Given the description of an element on the screen output the (x, y) to click on. 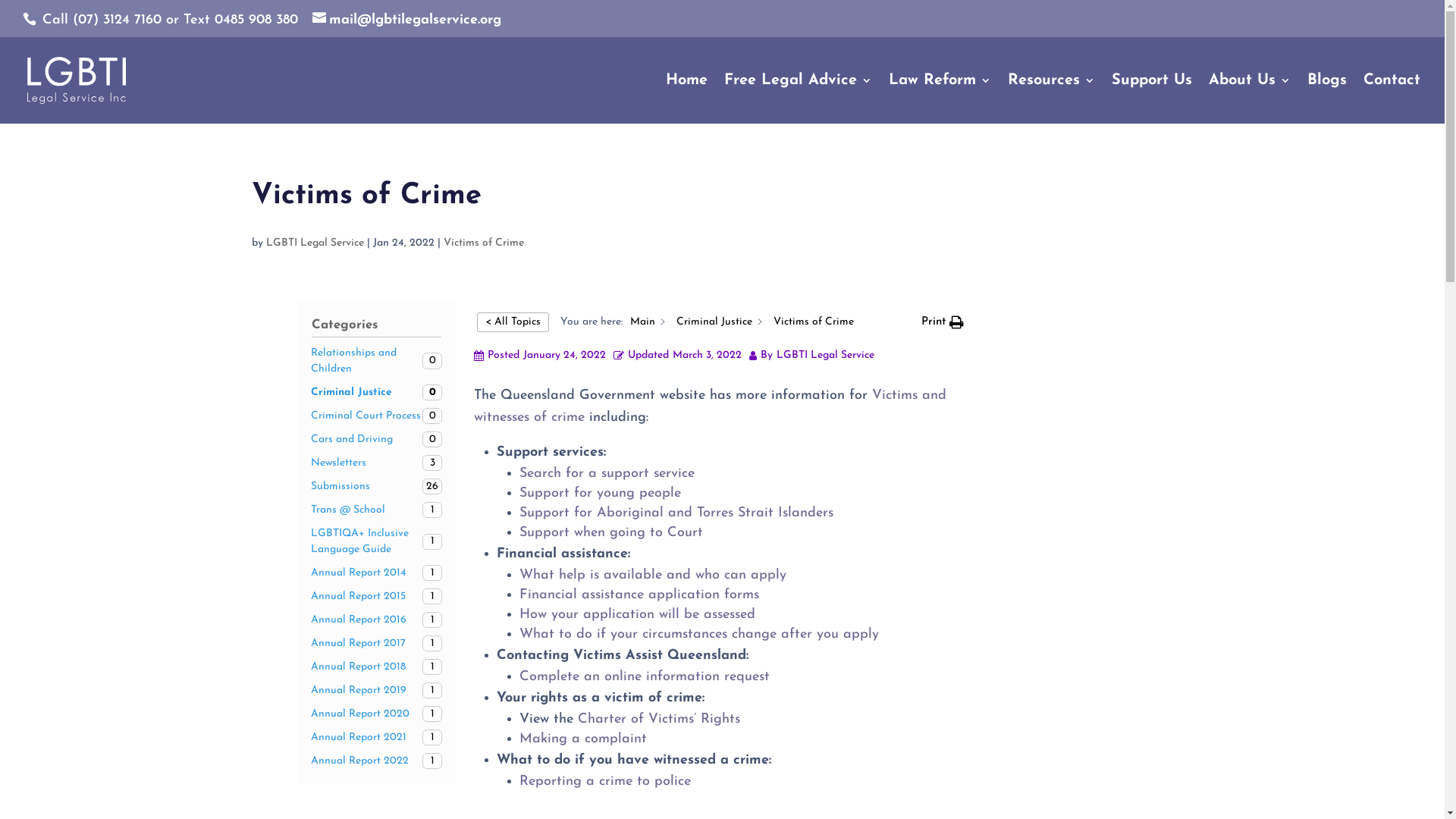
Relationships and Children
0 Element type: text (376, 360)
Annual Report 2022
1 Element type: text (376, 760)
Annual Report 2019
1 Element type: text (376, 690)
Victims of Crime Element type: text (483, 242)
Resources Element type: text (1051, 99)
Cars and Driving
0 Element type: text (376, 439)
mail@lgbtilegalservice.org Element type: text (406, 19)
Annual Report 2017
1 Element type: text (376, 643)
Annual Report 2014
1 Element type: text (376, 572)
Newsletters
3 Element type: text (376, 462)
Criminal Court Process
0 Element type: text (376, 415)
Home Element type: text (686, 99)
LGBTIQA+ Inclusive Language Guide
1 Element type: text (376, 541)
Complete an online information request Element type: text (643, 676)
What help is available and who can apply Element type: text (651, 574)
Trans @ School
1 Element type: text (376, 509)
Making a complaint Element type: text (582, 738)
About Us Element type: text (1249, 99)
Contact Element type: text (1391, 99)
Free Legal Advice Element type: text (798, 99)
How your application will be assessed Element type: text (636, 614)
Criminal Justice
0 Element type: text (376, 392)
Main Element type: text (641, 321)
Support for Aboriginal and Torres Strait Islanders Element type: text (675, 512)
Victims and witnesses of crime Element type: text (709, 406)
Annual Report 2018
1 Element type: text (376, 666)
Reporting a crime to police  Element type: text (606, 781)
Blogs Element type: text (1326, 99)
< All Topics Element type: text (512, 322)
Support when going to Court Element type: text (610, 532)
Criminal Justice Element type: text (714, 321)
Law Reform Element type: text (939, 99)
Search for a support service Element type: text (605, 473)
Support for young people Element type: text (599, 493)
Annual Report 2021
1 Element type: text (376, 737)
Annual Report 2015
1 Element type: text (376, 596)
LGBTI Legal Service Element type: text (315, 242)
Annual Report 2020
1 Element type: text (376, 713)
Financial assistance application forms Element type: text (638, 594)
Support Us Element type: text (1151, 99)
Submissions
26 Element type: text (376, 486)
Annual Report 2016
1 Element type: text (376, 619)
What to do if your circumstances change after you apply Element type: text (698, 634)
